Given the description of an element on the screen output the (x, y) to click on. 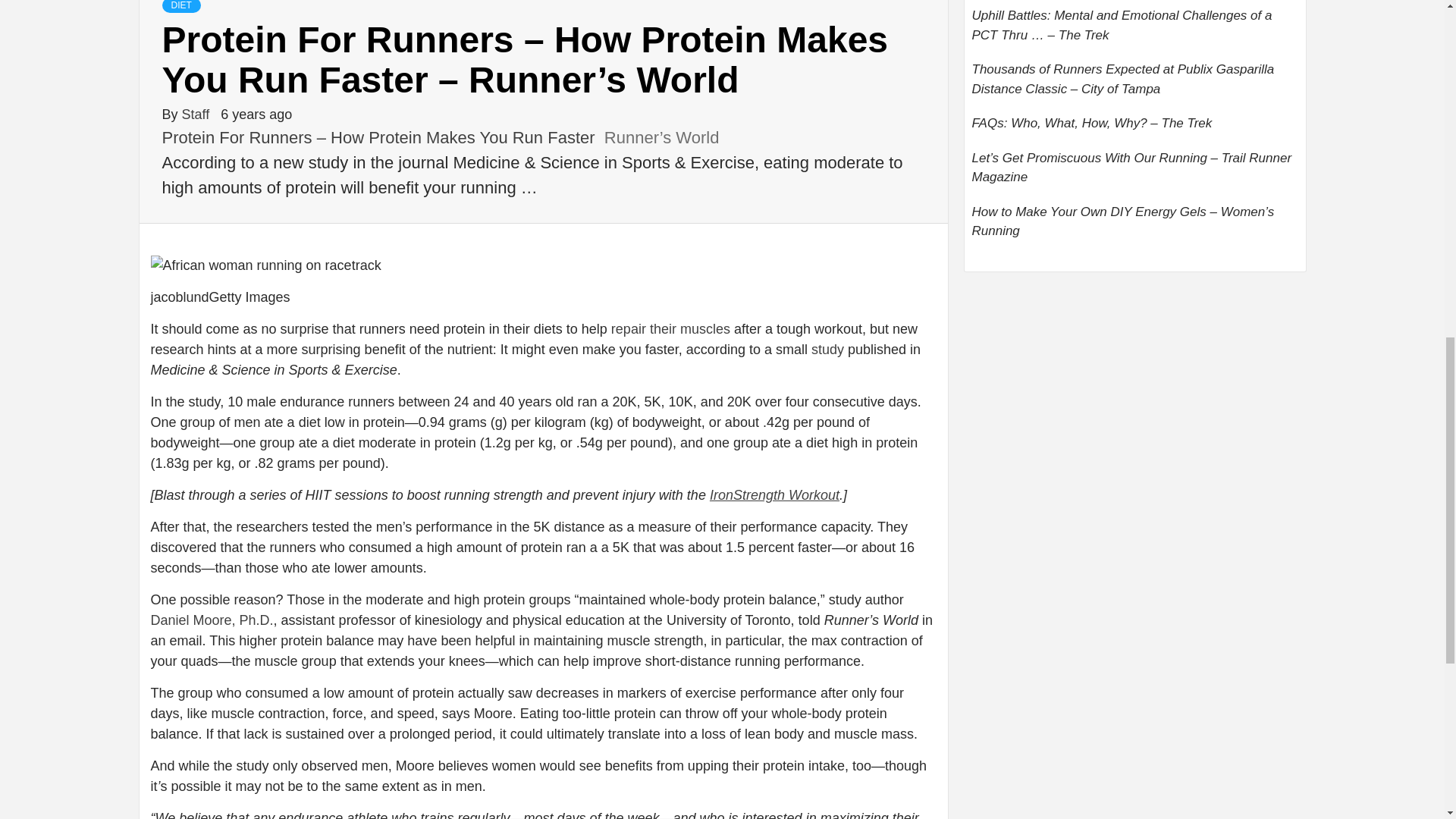
Staff (198, 114)
African woman running on racetrack (264, 265)
IronStrength Workout (775, 494)
study (827, 349)
repair their muscles (670, 328)
DIET (180, 6)
Daniel Moore, Ph.D. (211, 620)
